Given the description of an element on the screen output the (x, y) to click on. 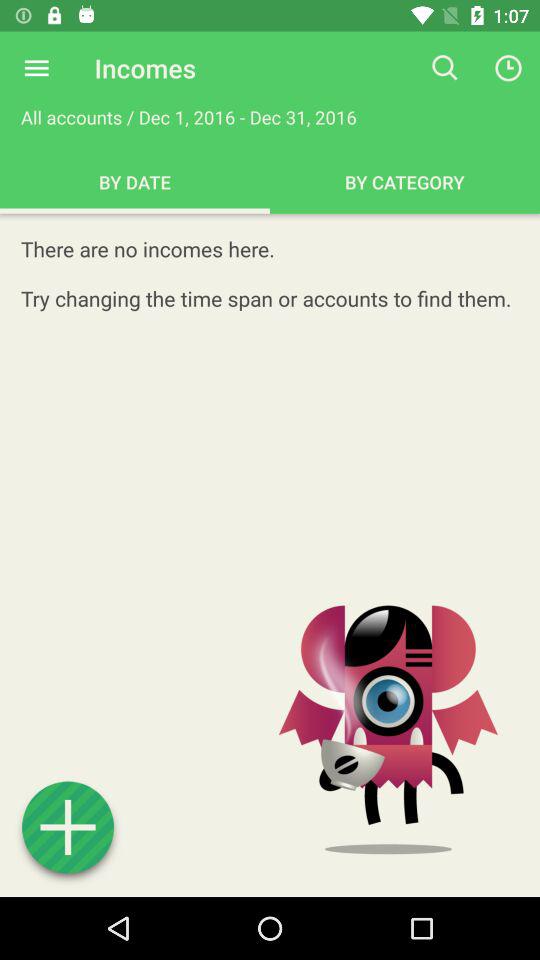
expand menu options (36, 68)
